Given the description of an element on the screen output the (x, y) to click on. 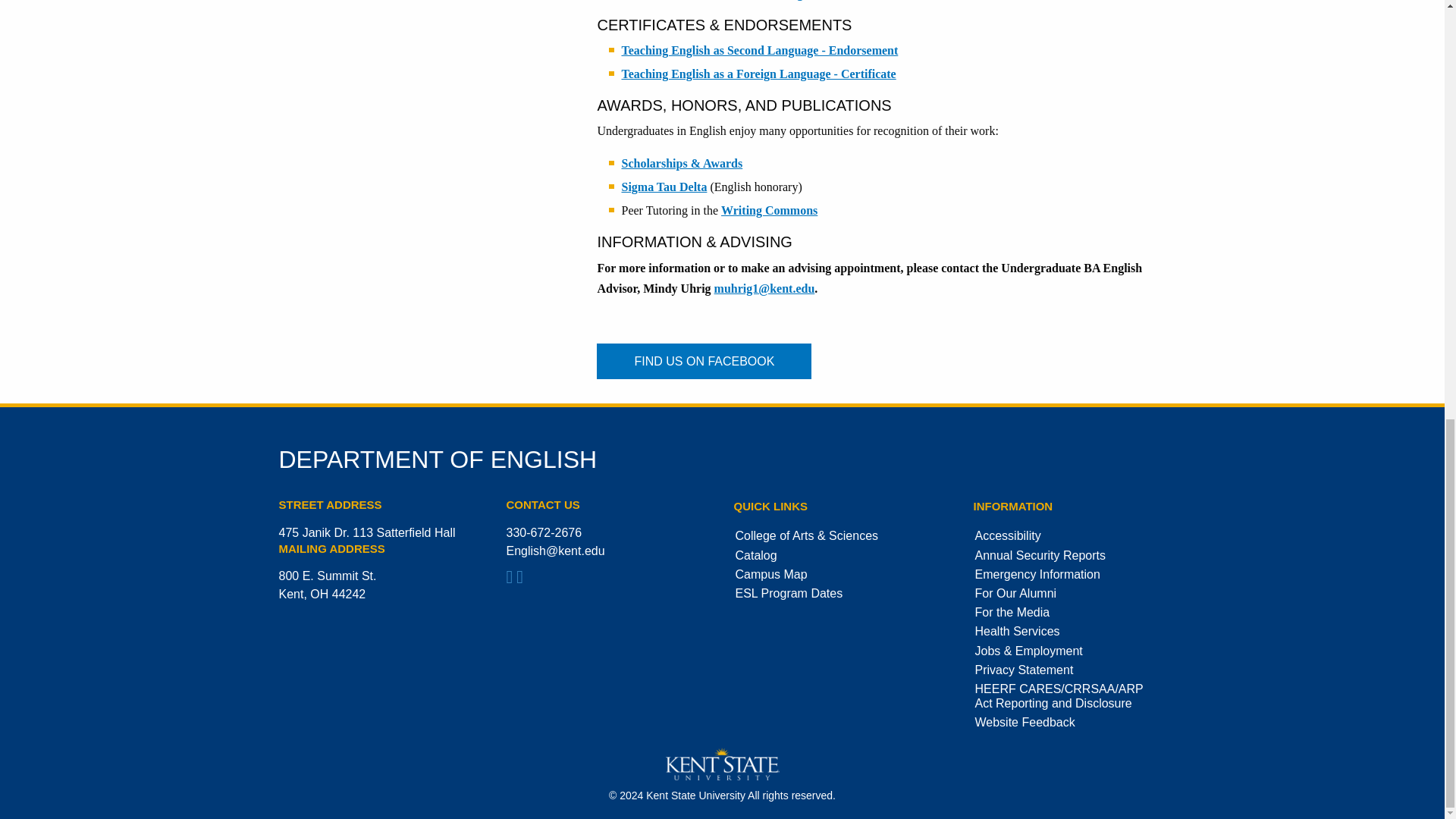
Kent State University logo (721, 764)
